Given the description of an element on the screen output the (x, y) to click on. 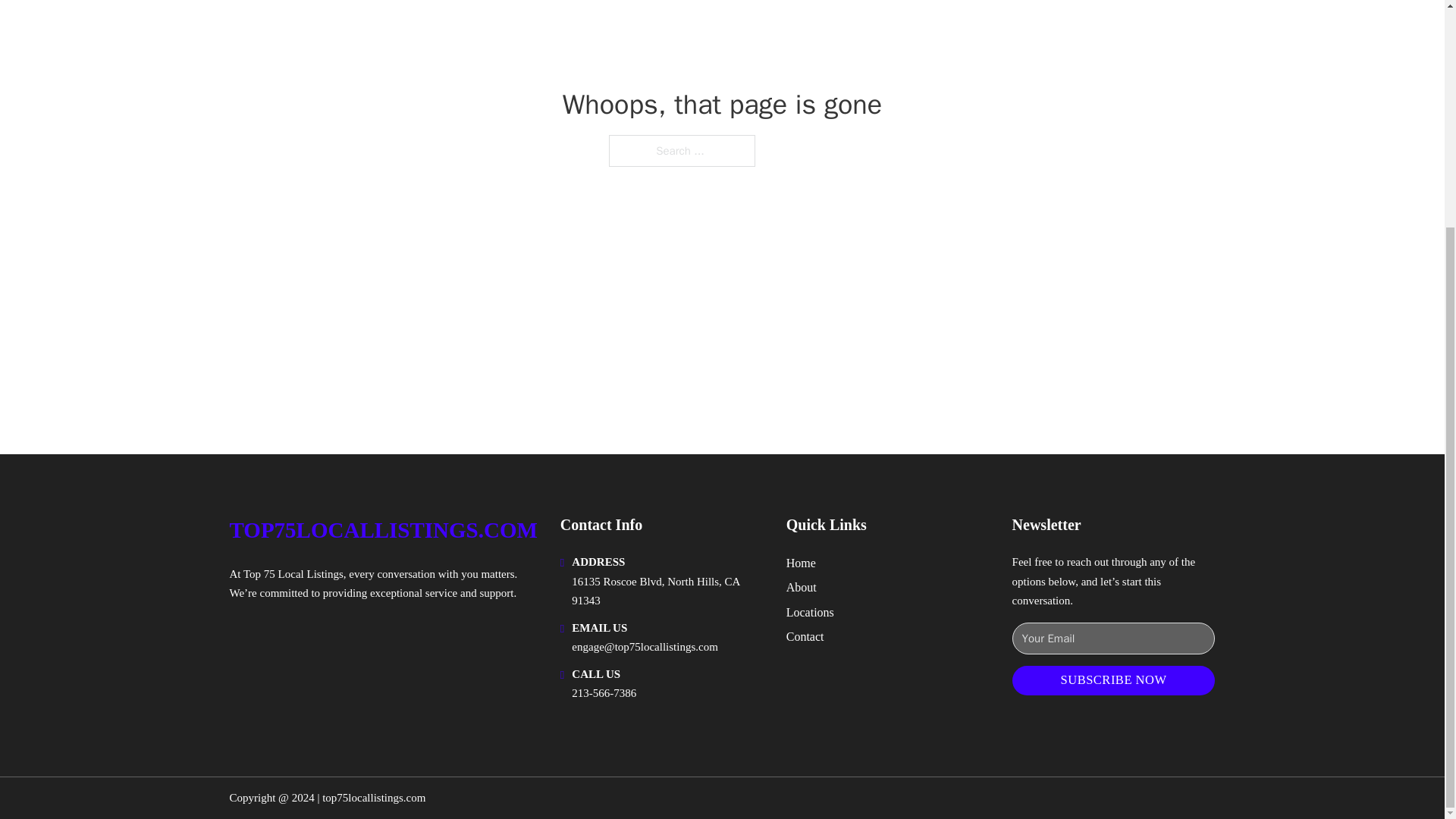
Contact (805, 636)
TOP75LOCALLISTINGS.COM (382, 529)
Home (800, 562)
About (801, 587)
213-566-7386 (604, 693)
SUBSCRIBE NOW (1113, 680)
Locations (810, 611)
